Given the description of an element on the screen output the (x, y) to click on. 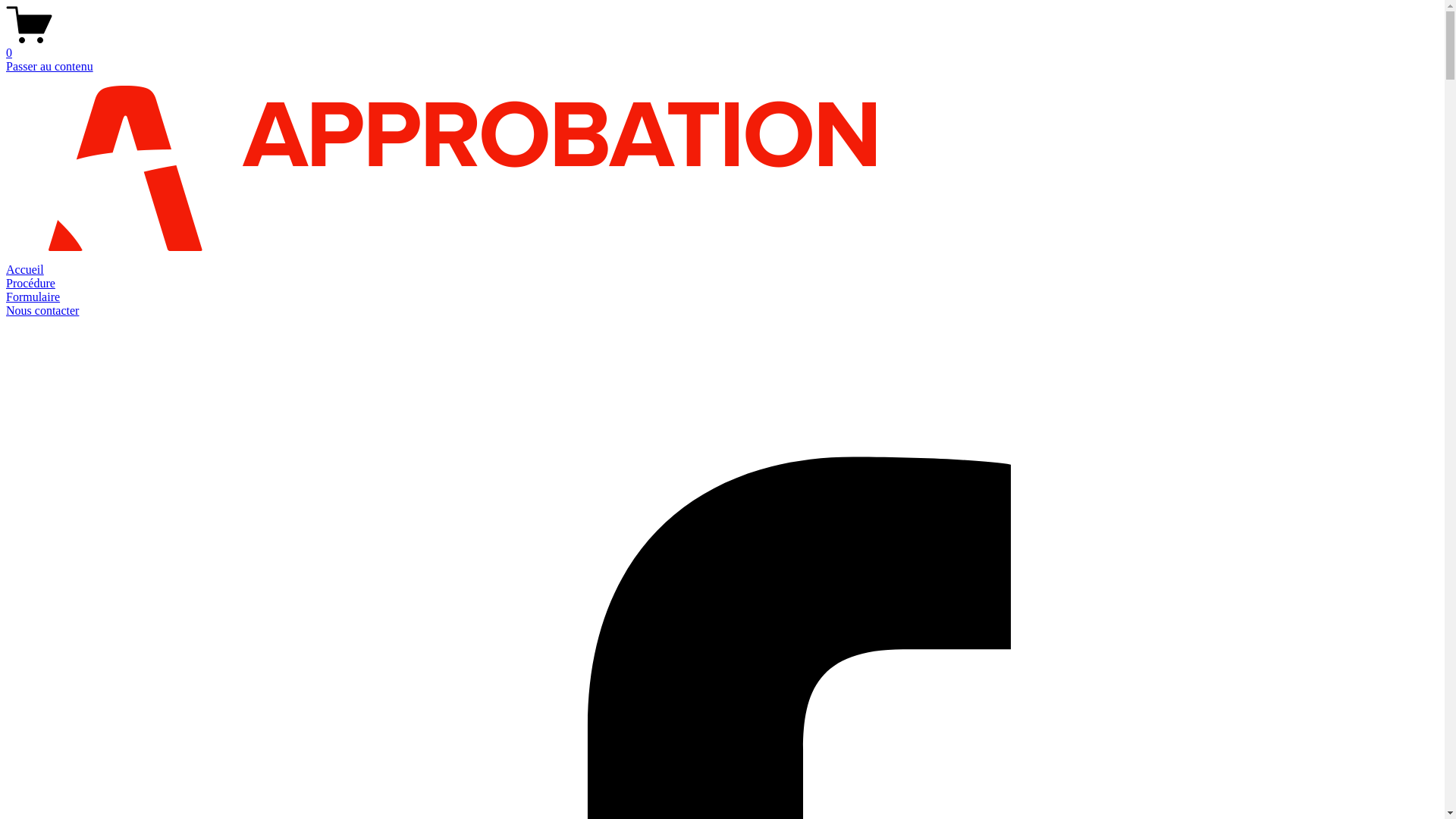
Nous contacter Element type: text (42, 310)
Passer au contenu Element type: text (49, 65)
Formulaire Element type: text (32, 296)
Accueil Element type: text (24, 269)
0 Element type: text (722, 45)
